Given the description of an element on the screen output the (x, y) to click on. 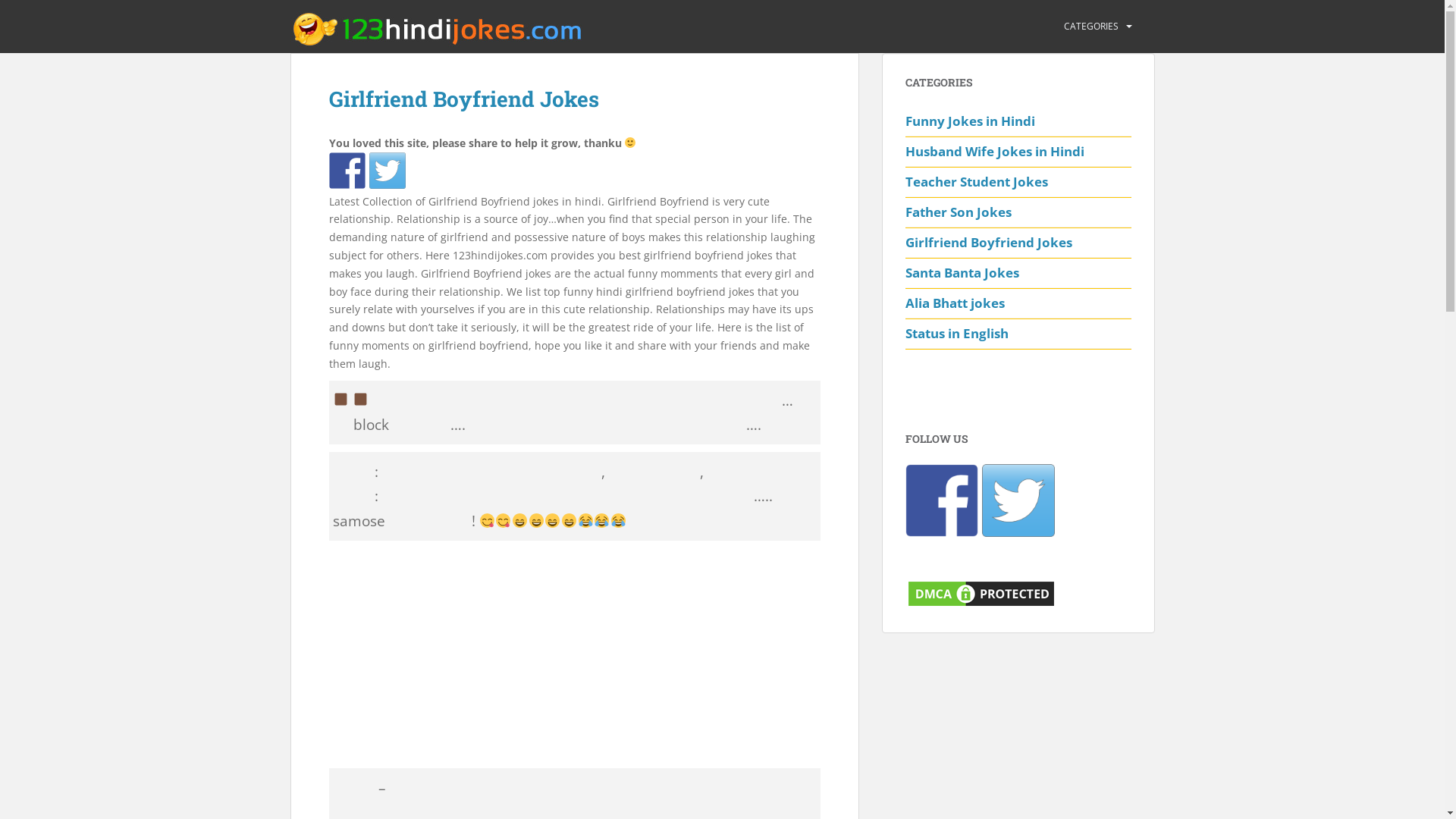
Share on Twitter Element type: hover (386, 170)
CATEGORIES Element type: text (1090, 26)
Follow us on Twitter Element type: hover (1017, 500)
Funny Jokes in Hindi Element type: text (1018, 121)
Advertisement Element type: hover (574, 654)
Santa Banta Jokes Element type: text (1018, 273)
Status in English Element type: text (1018, 333)
Alia Bhatt jokes Element type: text (1018, 303)
Follow us on Facebook Element type: hover (941, 500)
Father Son Jokes Element type: text (1018, 212)
Teacher Student Jokes Element type: text (1018, 182)
Share on Facebook Element type: hover (347, 170)
Girlfriend Boyfriend Jokes Element type: text (1018, 242)
Husband Wife Jokes in Hindi Element type: text (1018, 151)
